Given the description of an element on the screen output the (x, y) to click on. 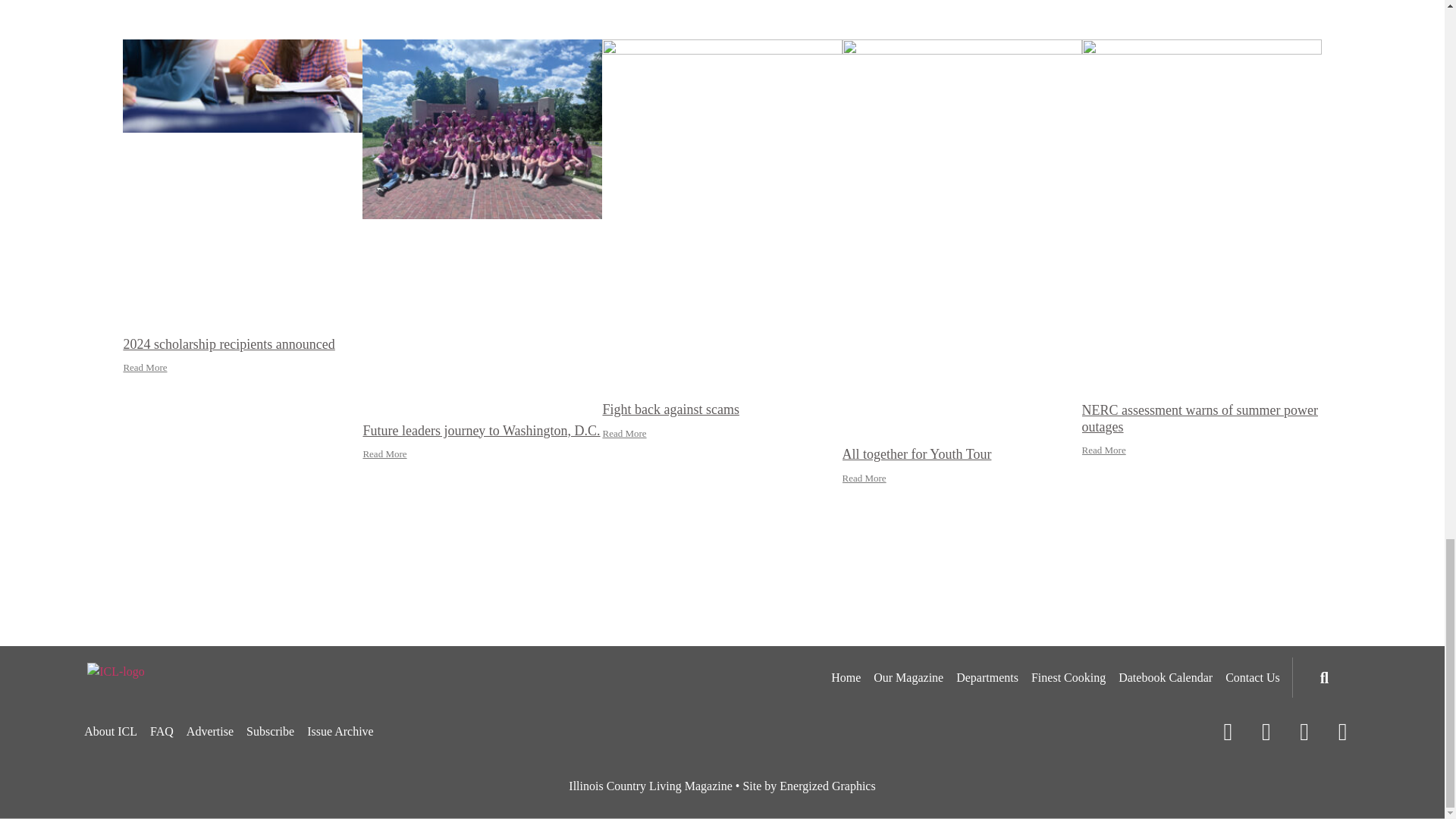
ICL-logo (115, 671)
